Given the description of an element on the screen output the (x, y) to click on. 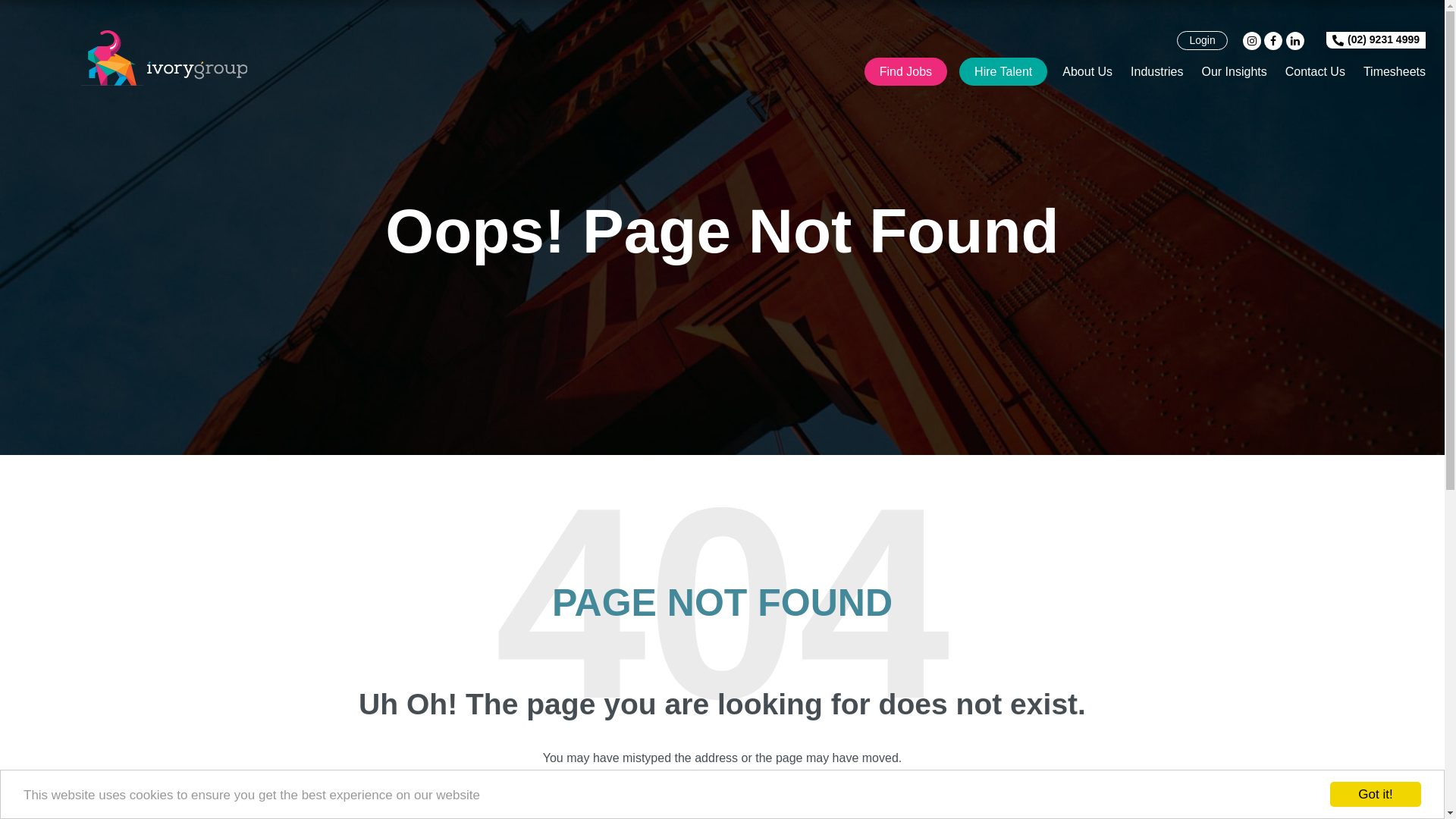
(02) 9231 4999 Element type: text (1375, 39)
Contact Us Element type: text (1315, 71)
About Us Element type: text (1087, 71)
Industries Element type: text (1156, 71)
Timesheets Element type: text (1394, 71)
Return home Element type: text (754, 784)
Login Element type: text (1201, 40)
Hire Talent Element type: text (1003, 71)
Find Jobs Element type: text (905, 71)
Our Insights Element type: text (1233, 71)
Got it! Element type: text (1375, 793)
Go back Element type: text (666, 784)
